Given the description of an element on the screen output the (x, y) to click on. 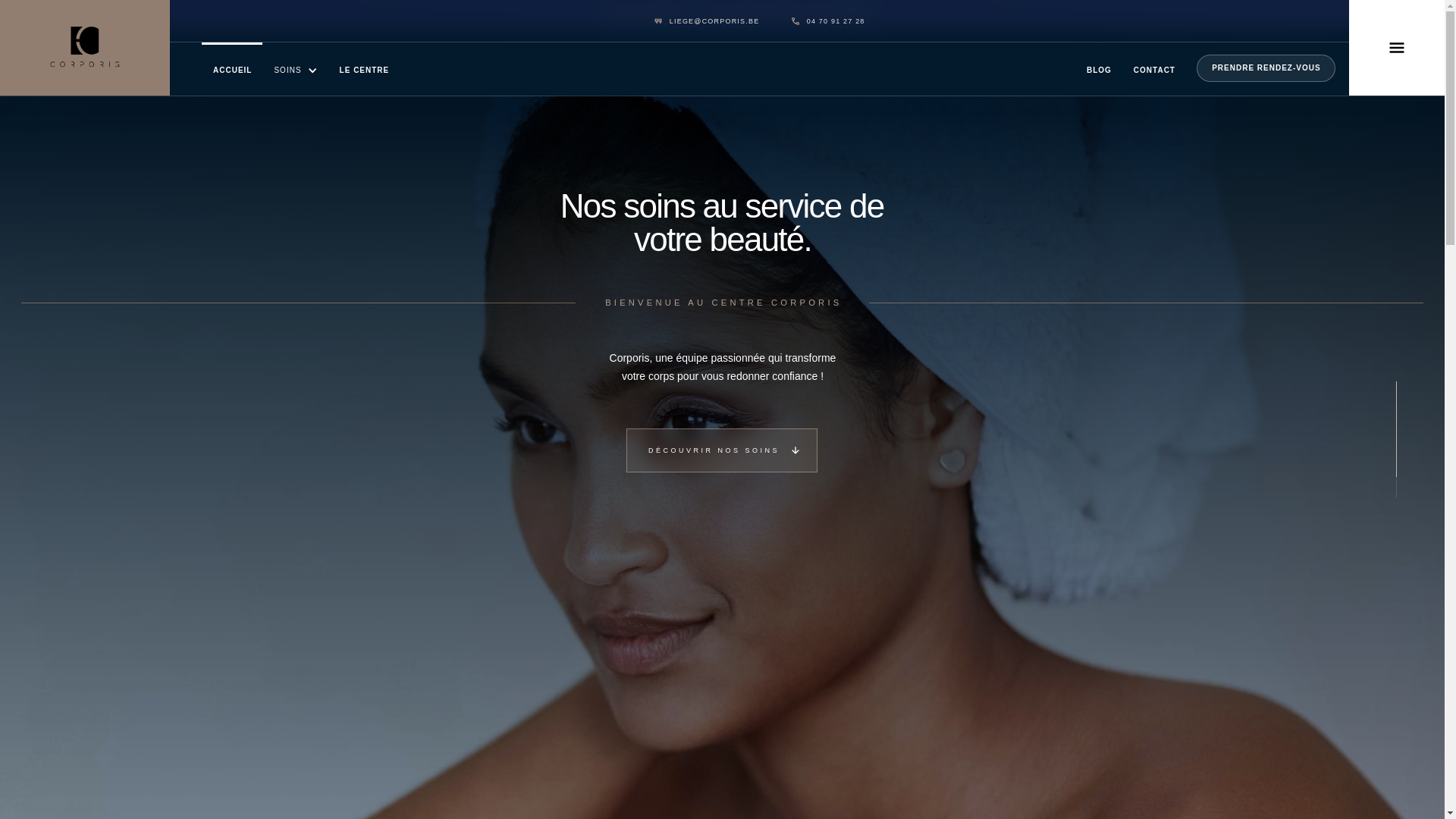
04 70 91 27 28 Element type: text (827, 21)
ACCUEIL Element type: text (231, 68)
LIEGE@CORPORIS.BE Element type: text (706, 21)
LE CENTRE Element type: text (364, 68)
PRENDRE RENDEZ-VOUS Element type: text (1265, 67)
BLOG Element type: text (1098, 68)
CONTACT Element type: text (1154, 68)
